Given the description of an element on the screen output the (x, y) to click on. 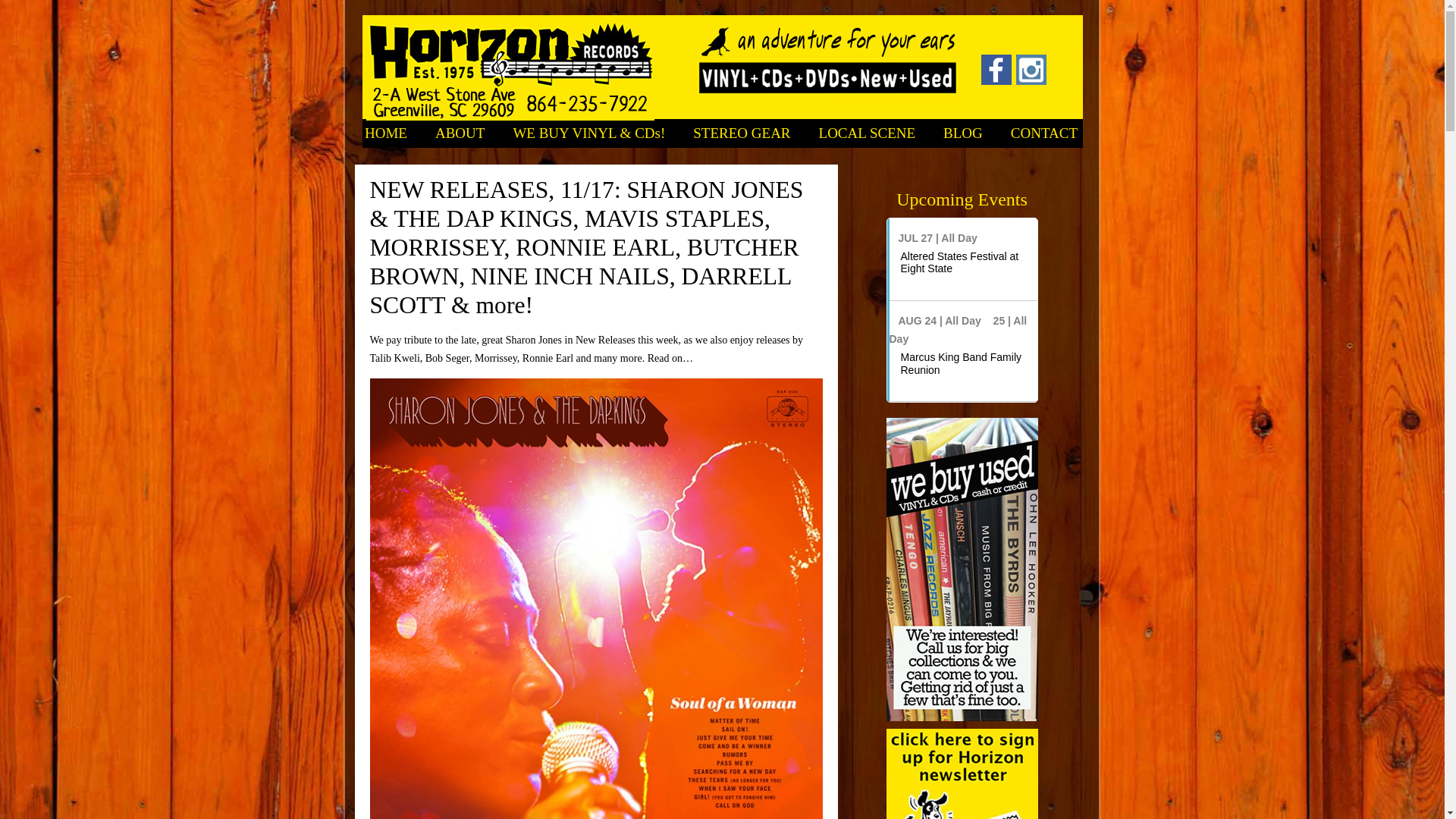
Upcoming Events (961, 199)
STEREO GEAR (741, 133)
Horizon Records (509, 71)
Instagram (1031, 81)
BLOG (962, 133)
LOCAL SCENE (867, 133)
HOME (385, 133)
ABOUT (459, 133)
Facebook (996, 81)
CONTACT (1044, 133)
Horizon Records (509, 71)
